Given the description of an element on the screen output the (x, y) to click on. 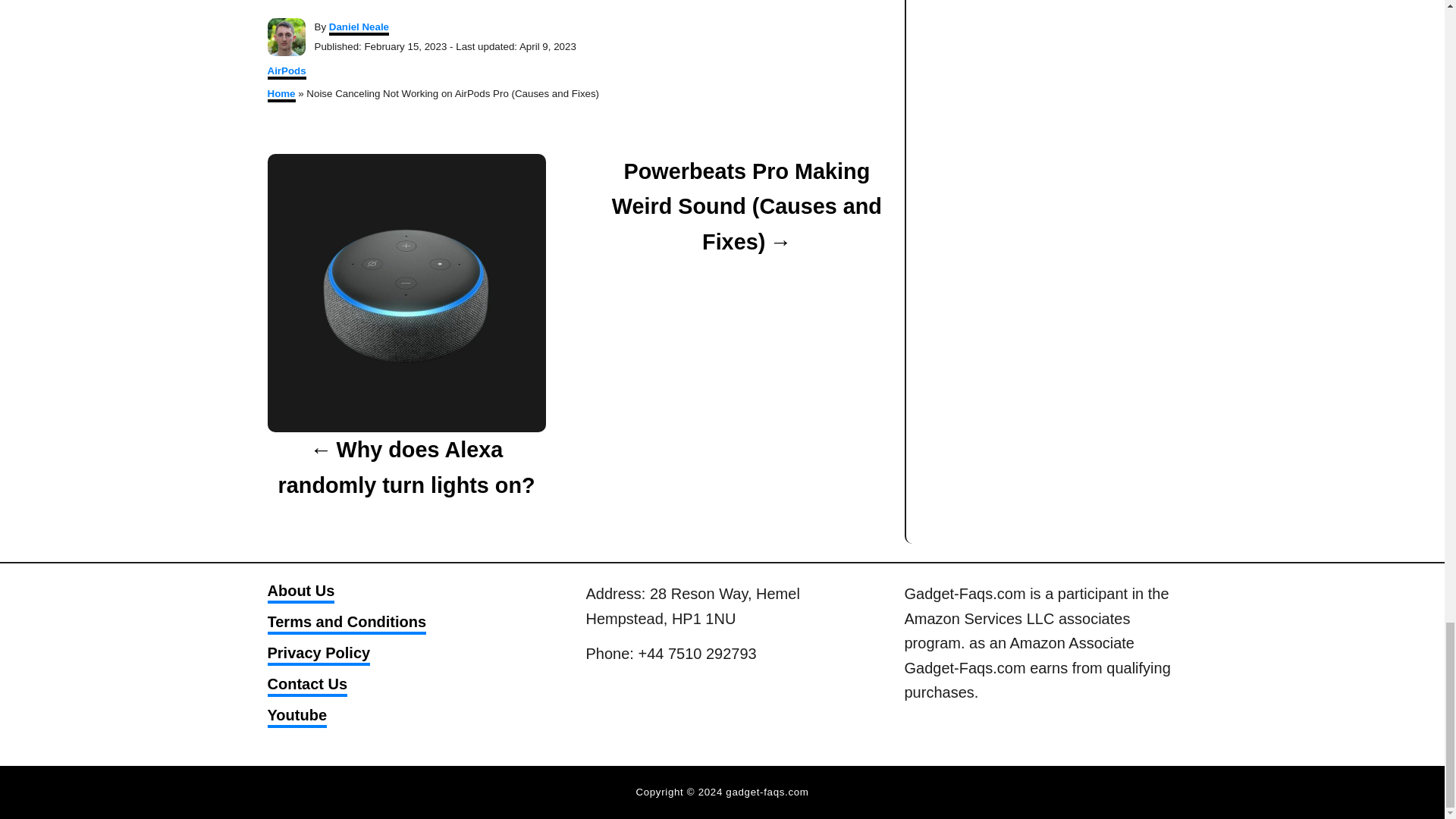
Why does Alexa randomly turn lights on? (405, 467)
AirPods (285, 72)
Daniel Neale (358, 28)
Home (280, 94)
